Given the description of an element on the screen output the (x, y) to click on. 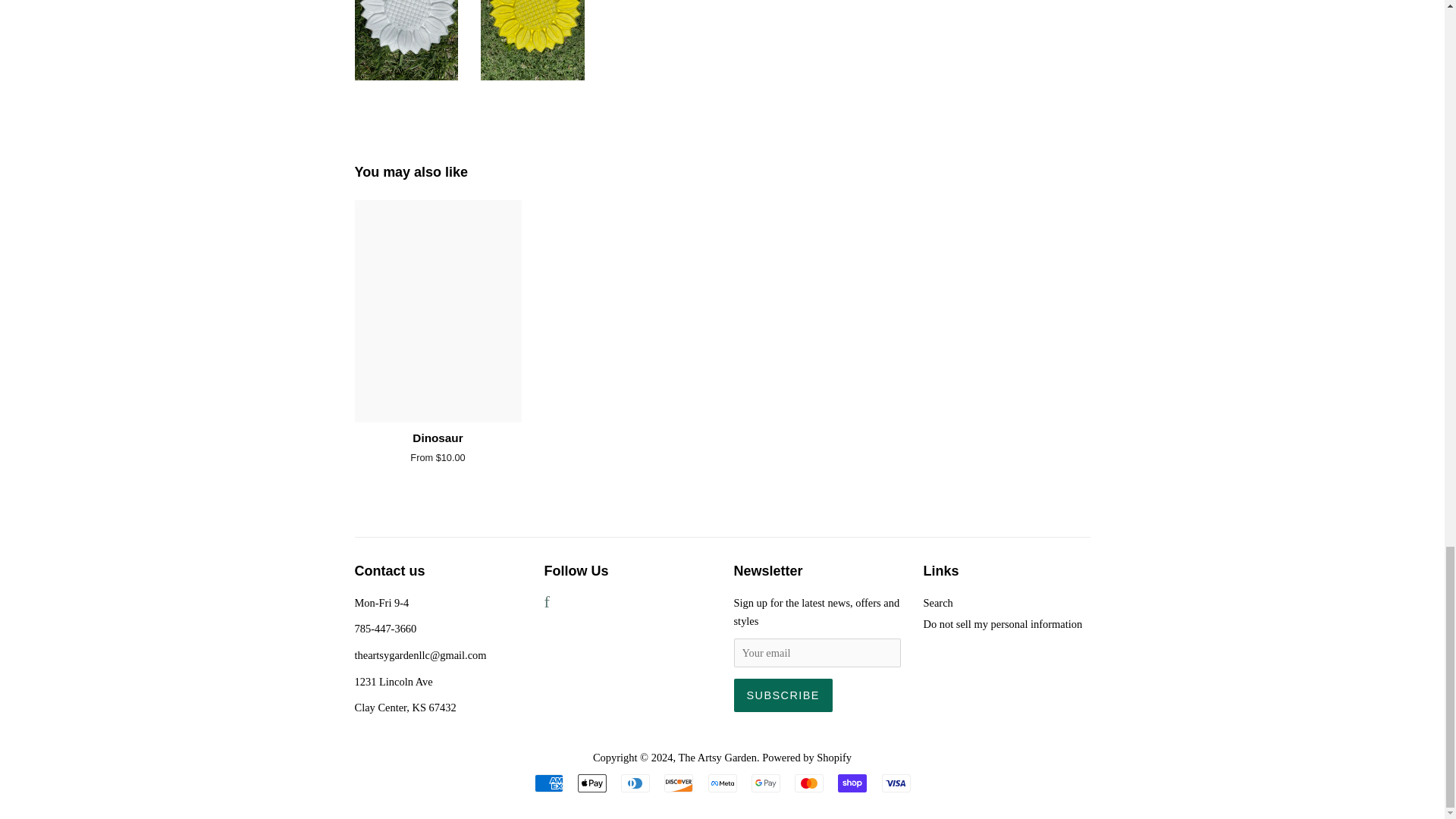
Meta Pay (721, 782)
Apple Pay (592, 782)
Diners Club (635, 782)
American Express (548, 782)
Google Pay (765, 782)
Visa (895, 782)
Mastercard (809, 782)
Subscribe (782, 694)
Shop Pay (852, 782)
Discover (678, 782)
